Given the description of an element on the screen output the (x, y) to click on. 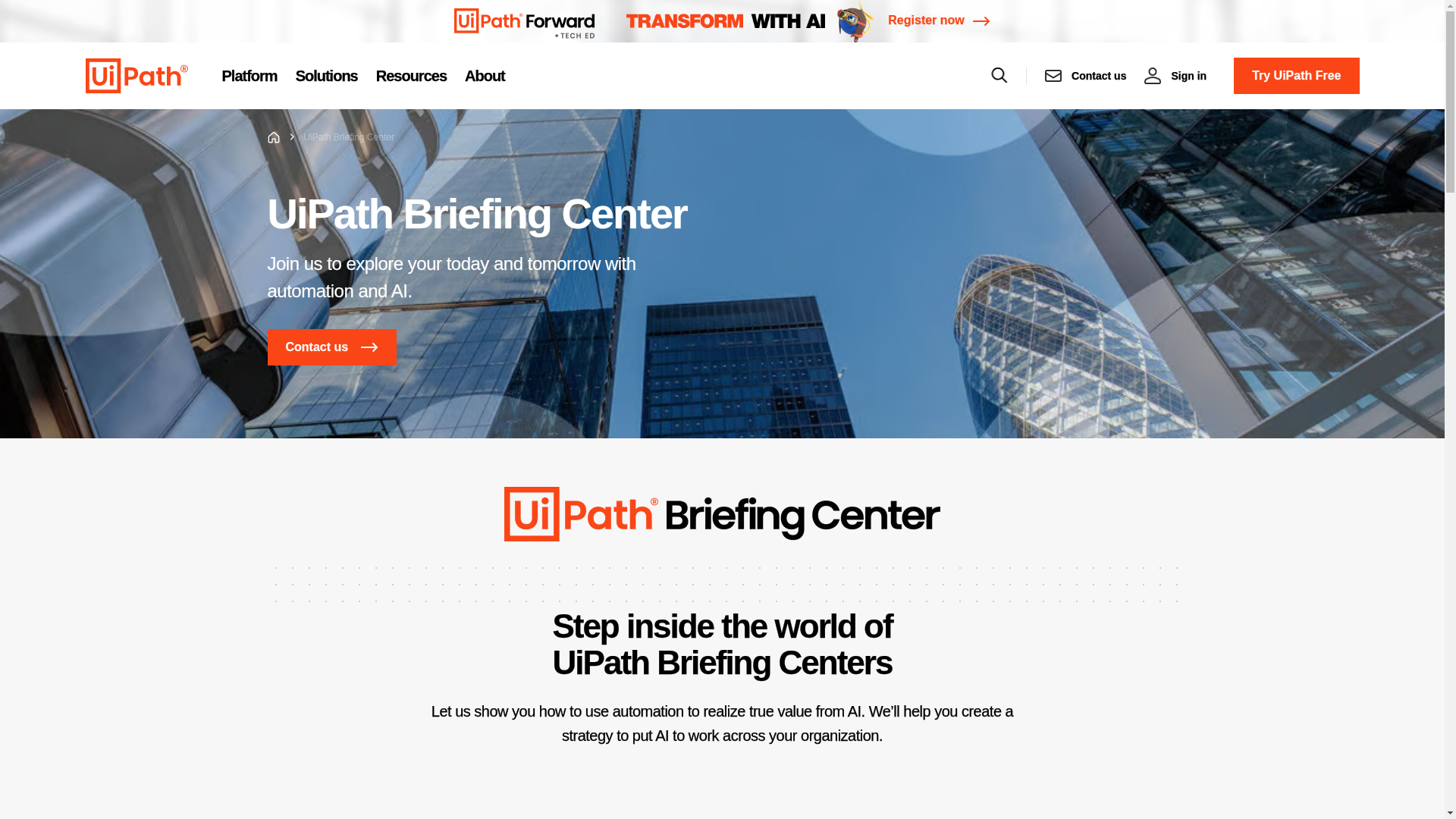
Platform (248, 75)
Register now (939, 21)
